Given the description of an element on the screen output the (x, y) to click on. 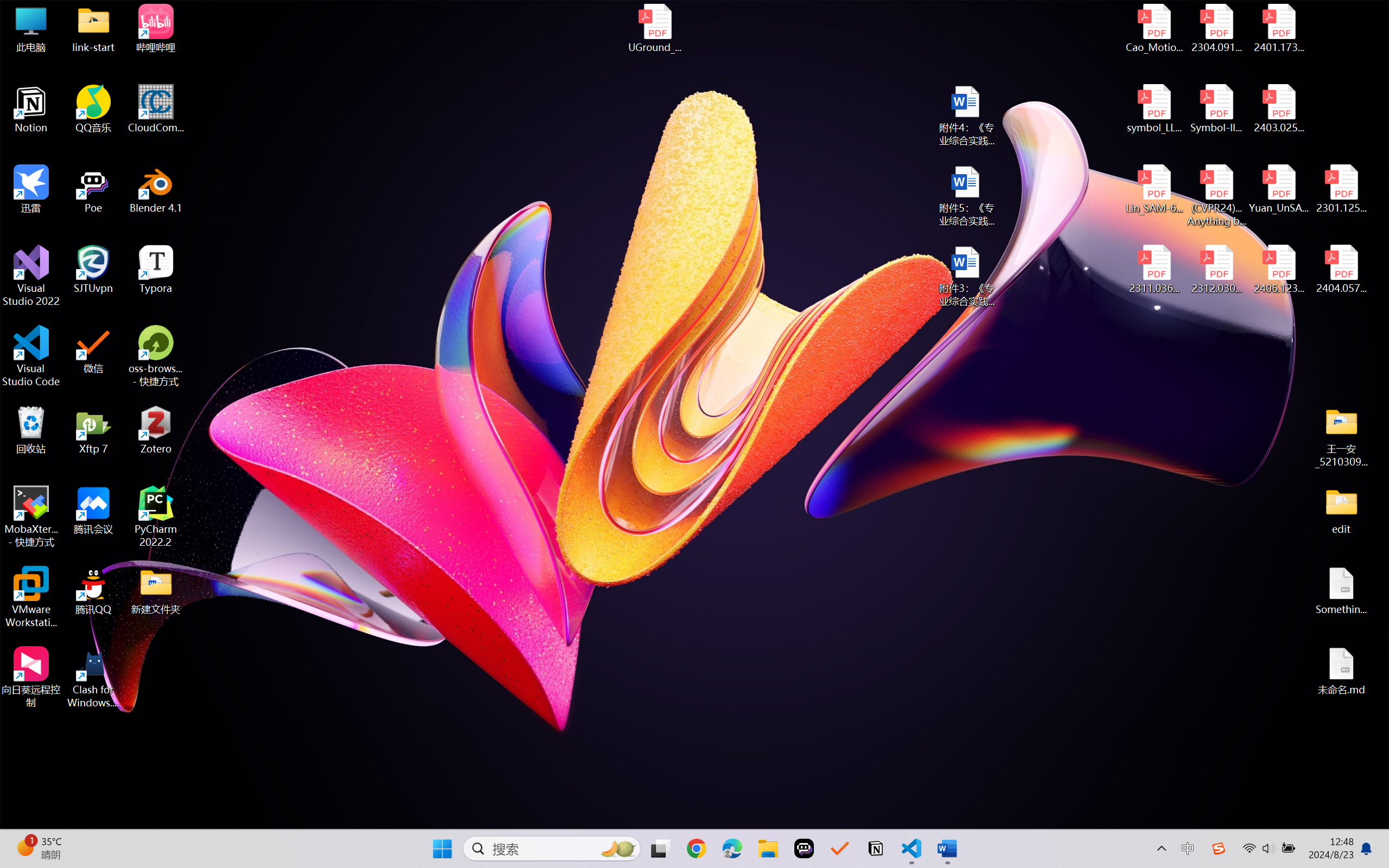
2406.12373v2.pdf (1278, 269)
2301.12597v3.pdf (1340, 189)
